Given the description of an element on the screen output the (x, y) to click on. 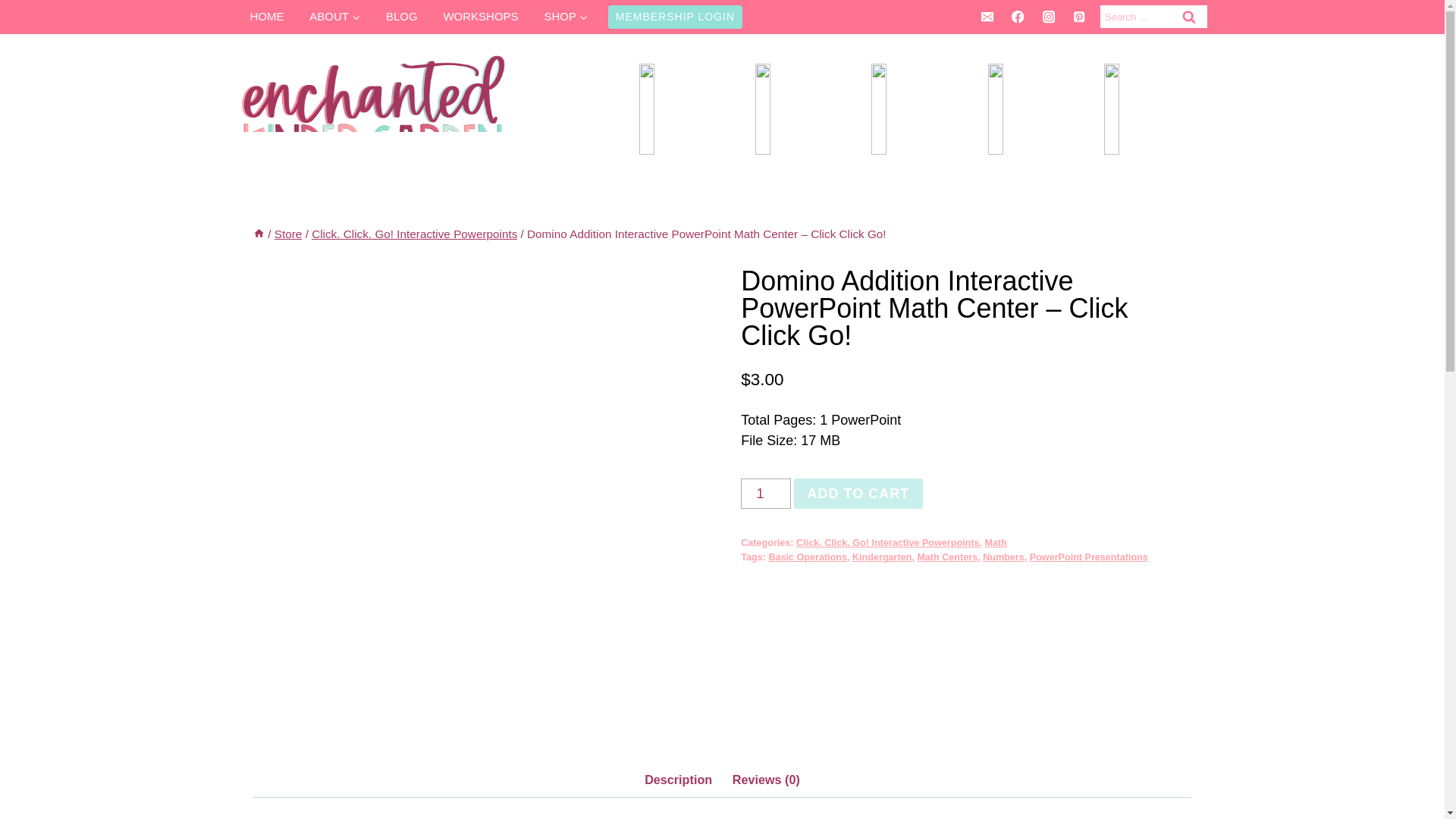
ADD TO CART (858, 493)
PowerPoint Presentations (1088, 557)
WORKSHOPS (480, 17)
Search (1188, 16)
Kindergarten (881, 557)
Search (1188, 16)
SHOP (565, 17)
1 (765, 493)
Click. Click. Go! Interactive Powerpoints (887, 542)
Click. Click. Go! Interactive Powerpoints (413, 233)
